Given the description of an element on the screen output the (x, y) to click on. 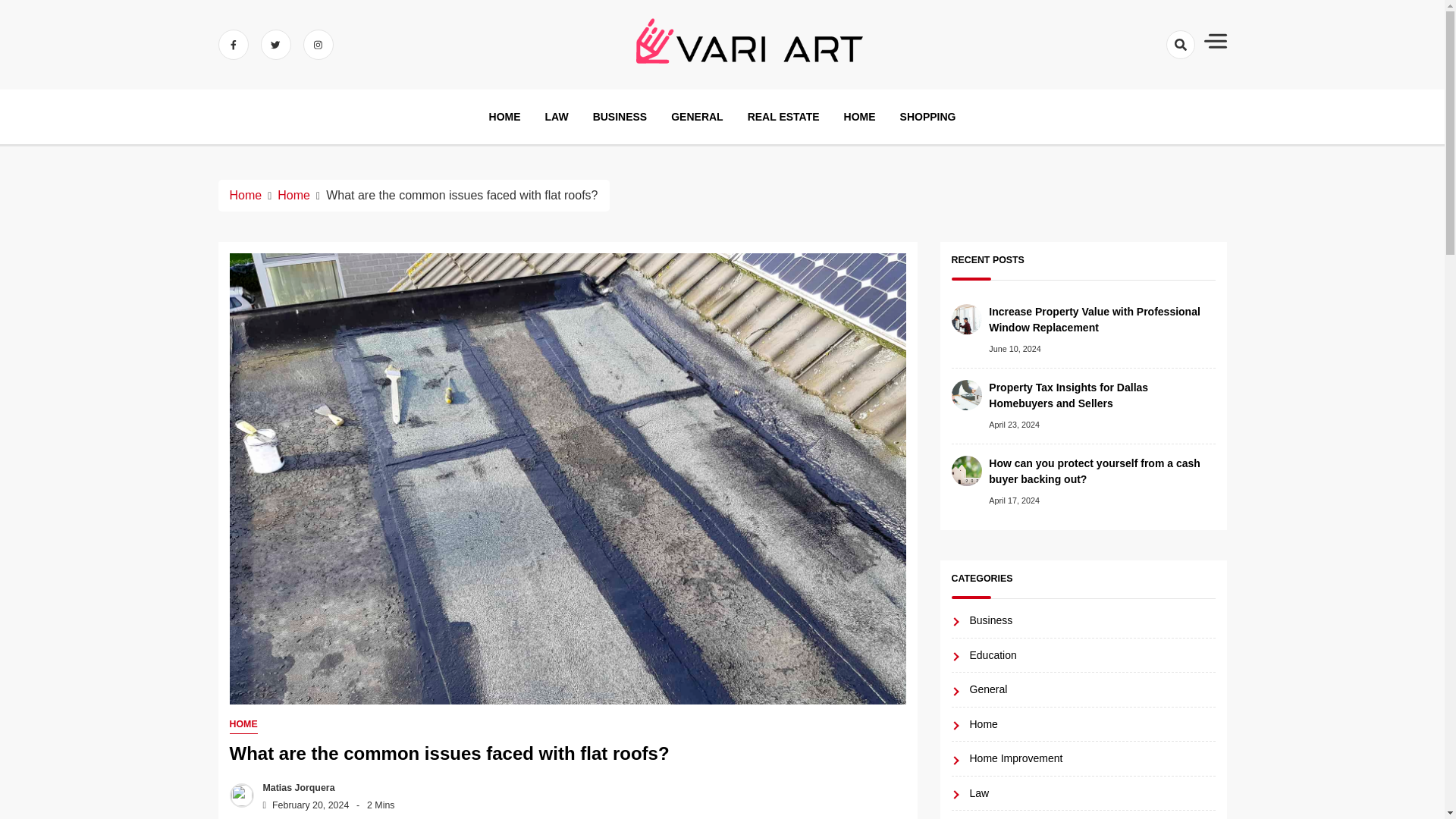
GENERAL (696, 116)
February 20, 2024 (302, 805)
Home (294, 195)
Matias Jorquera (295, 787)
BUSINESS (619, 116)
REAL ESTATE (783, 116)
Search (1150, 98)
Home (245, 195)
Vari Art (710, 108)
SHOPPING (927, 116)
HOME (242, 724)
Increase Property Value with Professional Window Replacement (1101, 320)
